Given the description of an element on the screen output the (x, y) to click on. 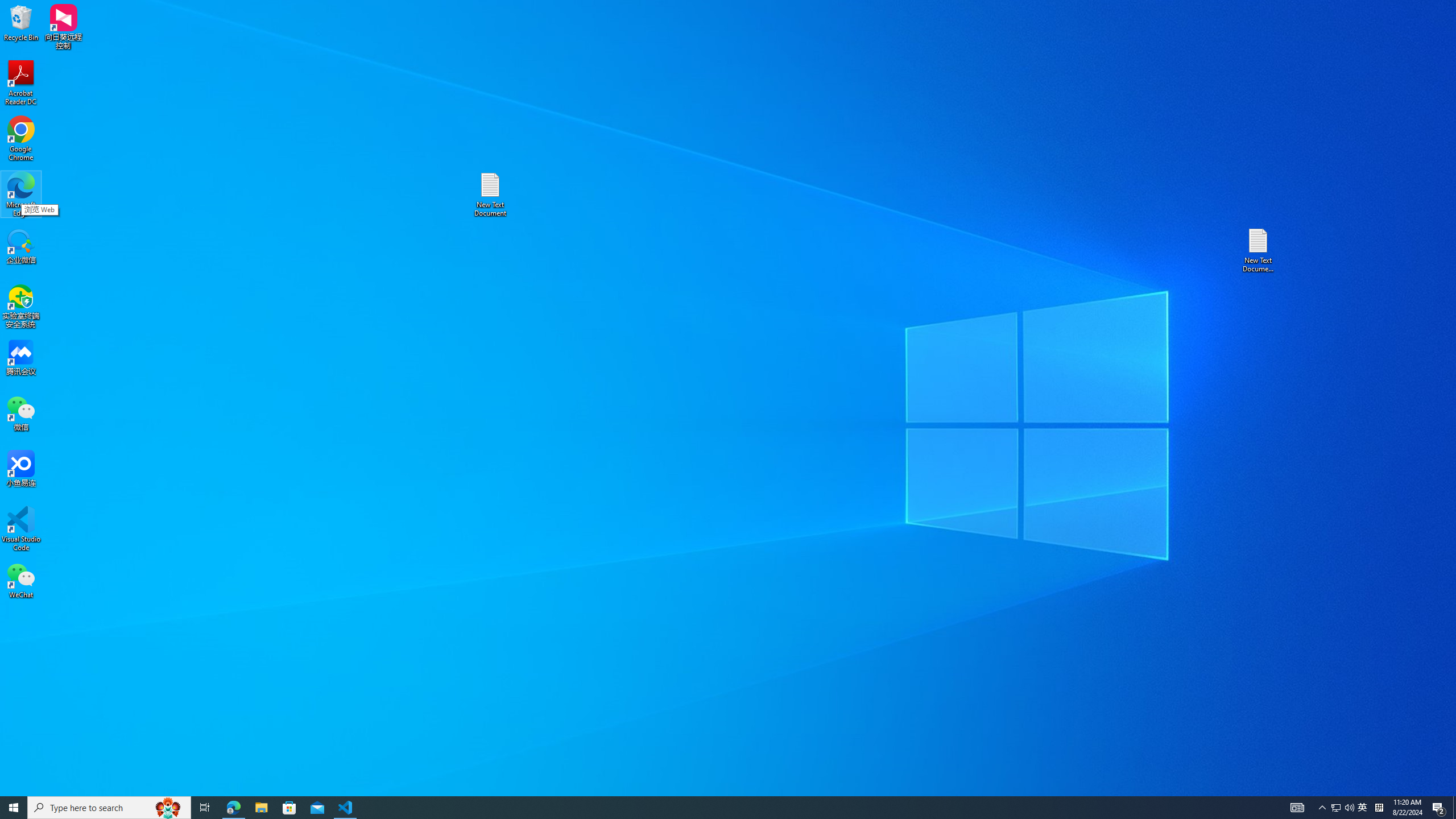
New Text Document (489, 194)
Action Center, 2 new notifications (1439, 807)
File Explorer (261, 807)
Google Chrome (21, 138)
Microsoft Edge (21, 194)
WeChat (21, 580)
Start (13, 807)
Running applications (707, 807)
User Promoted Notification Area (1362, 807)
AutomationID: 4105 (1342, 807)
